Given the description of an element on the screen output the (x, y) to click on. 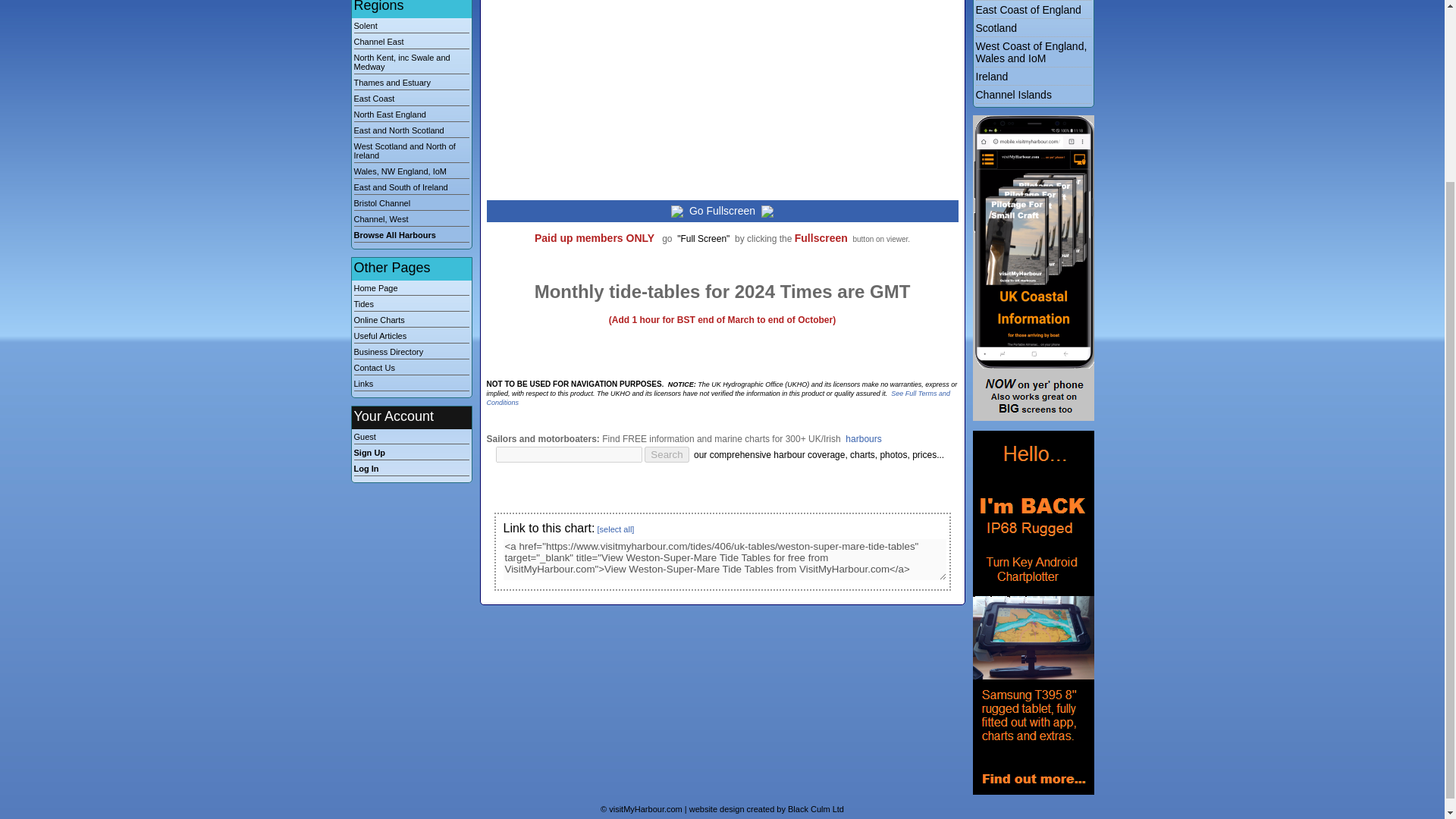
Log In (410, 469)
  Go Fullscreen   (722, 210)
Business Directory (410, 353)
Channel, West (410, 220)
East and North Scotland (410, 132)
North East England (410, 115)
Contact Us (410, 369)
Online Charts (410, 321)
Sign Up (410, 453)
Bristol Channel (410, 204)
West Scotland and North of Ireland (410, 151)
North Kent, inc Swale and Medway (410, 63)
East Coast of England (1027, 9)
Browse All Harbours (410, 236)
Tides (410, 305)
